Given the description of an element on the screen output the (x, y) to click on. 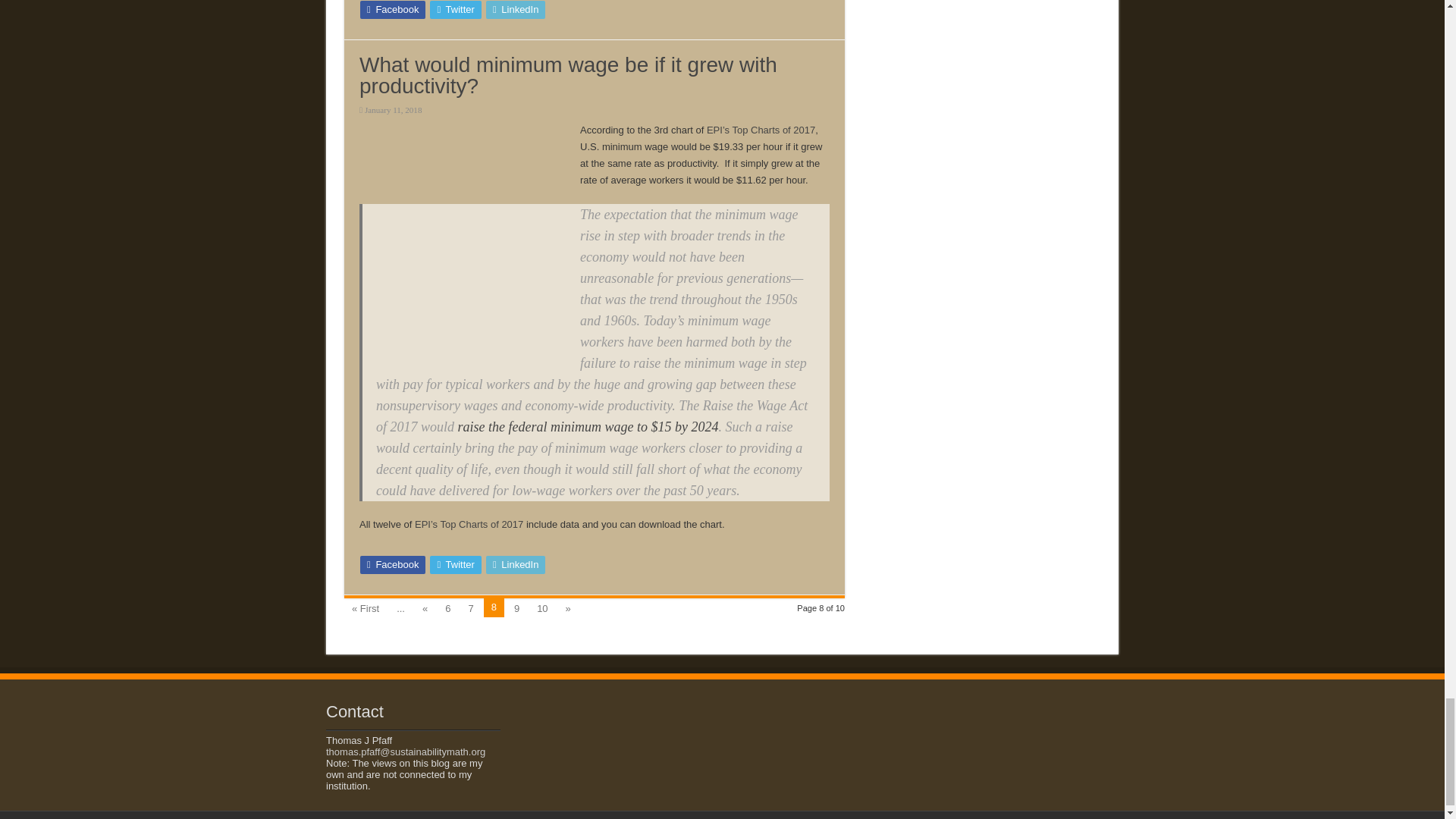
7 (470, 607)
9 (516, 607)
6 (448, 607)
